Given the description of an element on the screen output the (x, y) to click on. 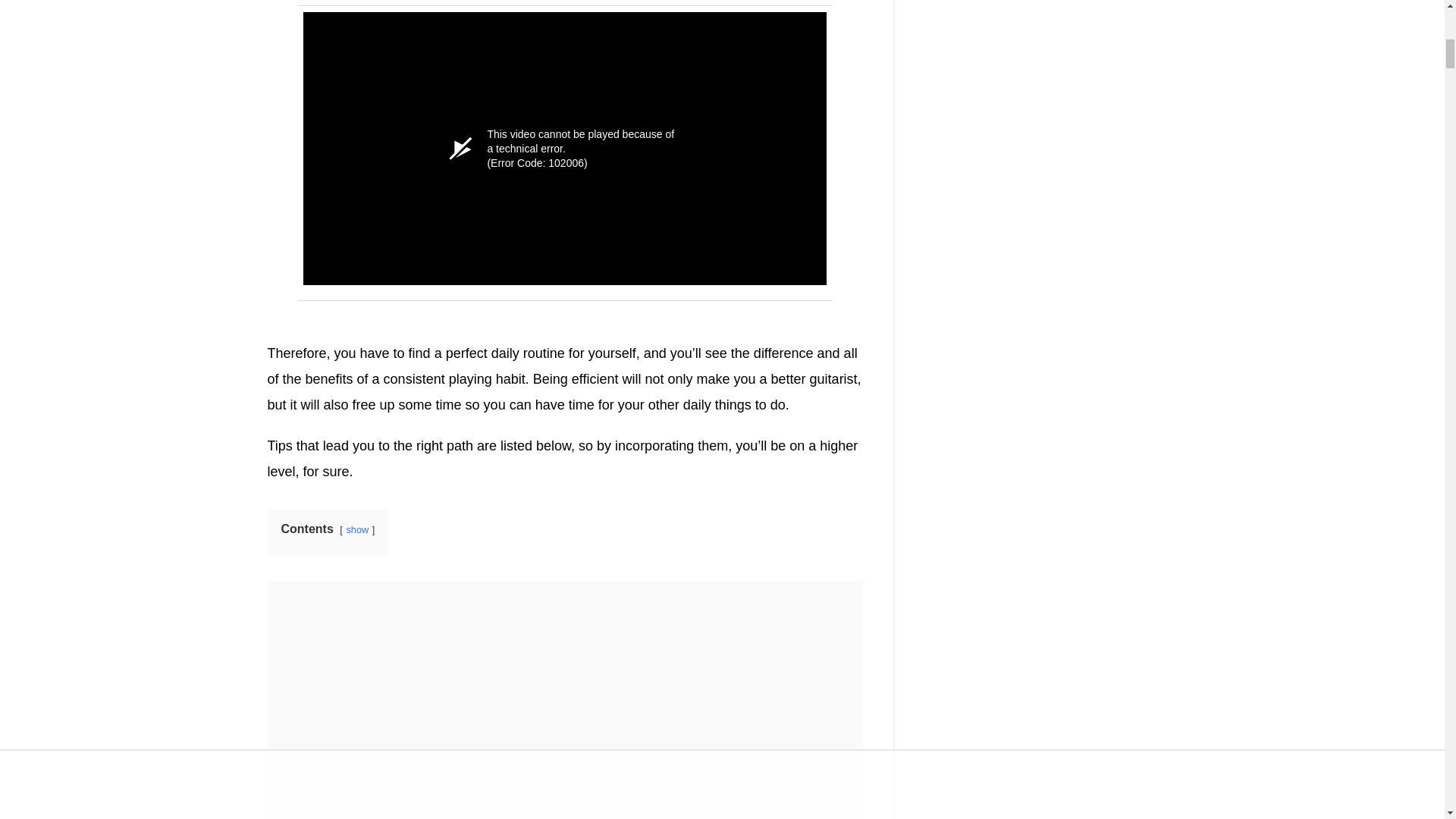
show (357, 529)
